Given the description of an element on the screen output the (x, y) to click on. 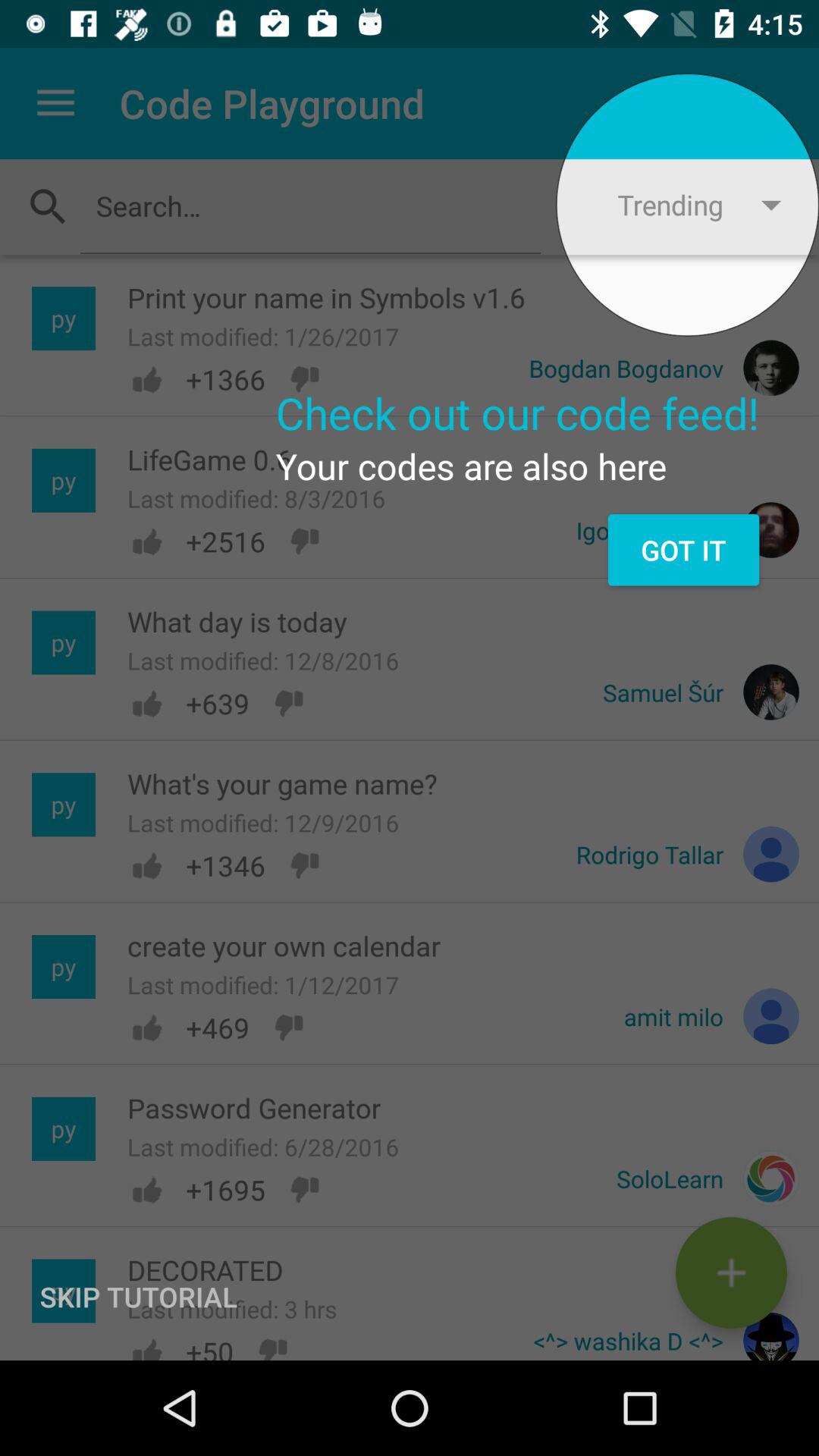
decorated option (731, 1272)
